Given the description of an element on the screen output the (x, y) to click on. 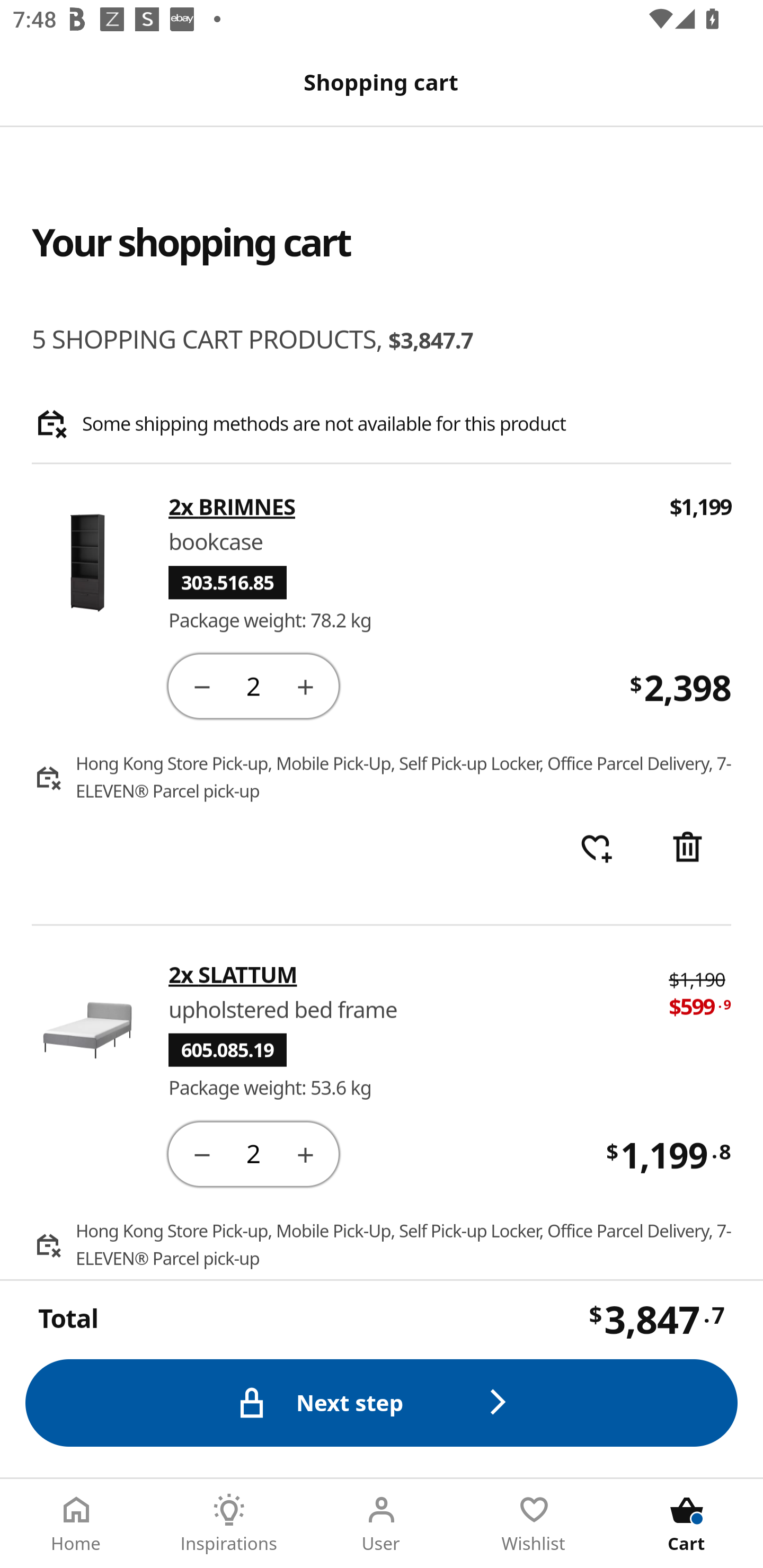
2x  BRIMNES 2x  BRIMNES (406, 507)
2 (253, 685)
 (201, 685)
 (305, 685)
  (595, 848)
 (686, 848)
2x  SLATTUM 2x  SLATTUM (405, 974)
2 (253, 1153)
 (201, 1153)
 (305, 1153)
Home
Tab 1 of 5 (76, 1522)
Inspirations
Tab 2 of 5 (228, 1522)
User
Tab 3 of 5 (381, 1522)
Wishlist
Tab 4 of 5 (533, 1522)
Cart
Tab 5 of 5 (686, 1522)
